Given the description of an element on the screen output the (x, y) to click on. 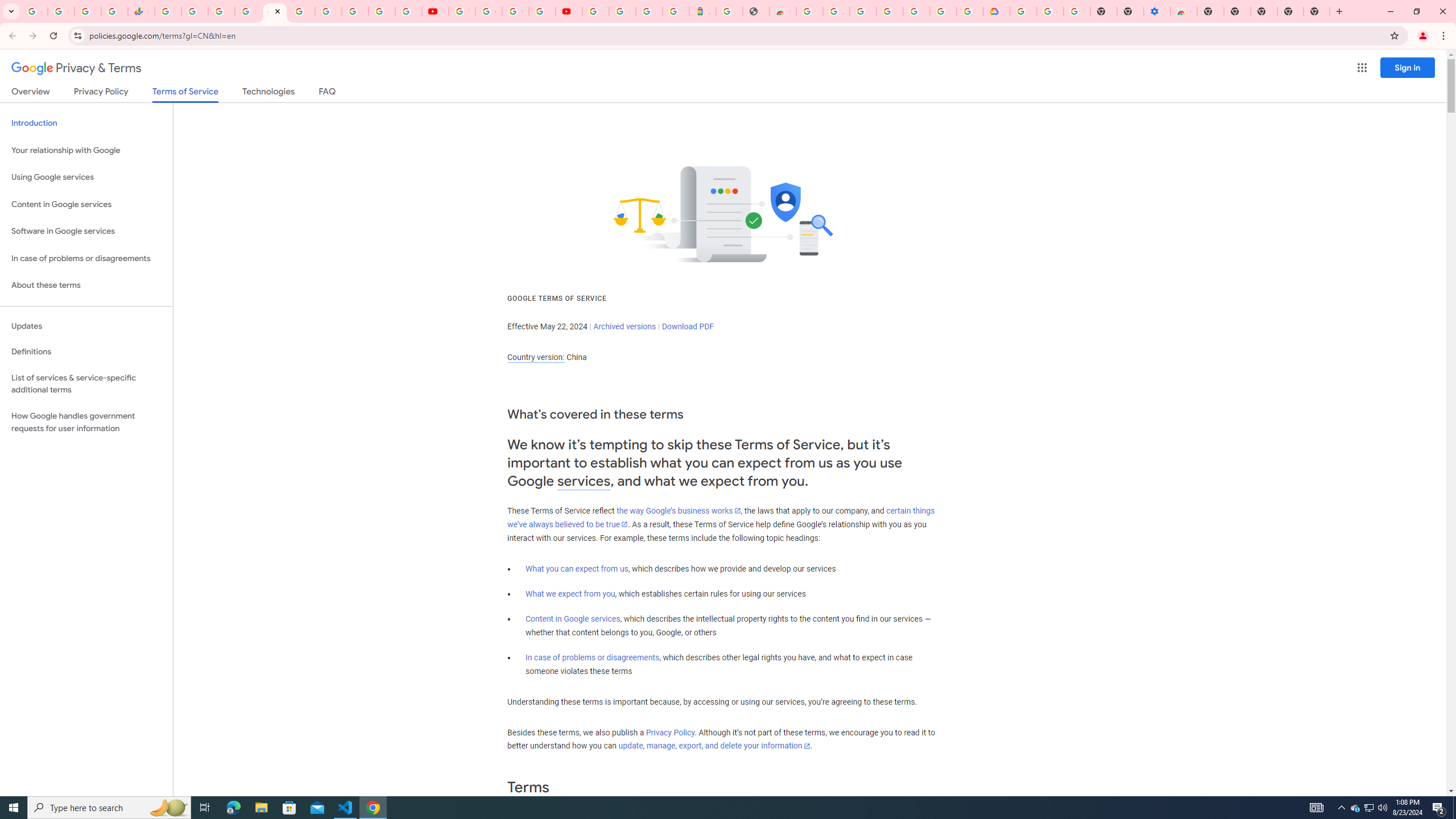
Content in Google services (572, 618)
What we expect from you (570, 593)
Sign in - Google Accounts (1023, 11)
Create your Google Account (515, 11)
Sign in - Google Accounts (595, 11)
YouTube (435, 11)
Sign in - Google Accounts (248, 11)
Sign in - Google Accounts (943, 11)
Country version: (535, 357)
